Given the description of an element on the screen output the (x, y) to click on. 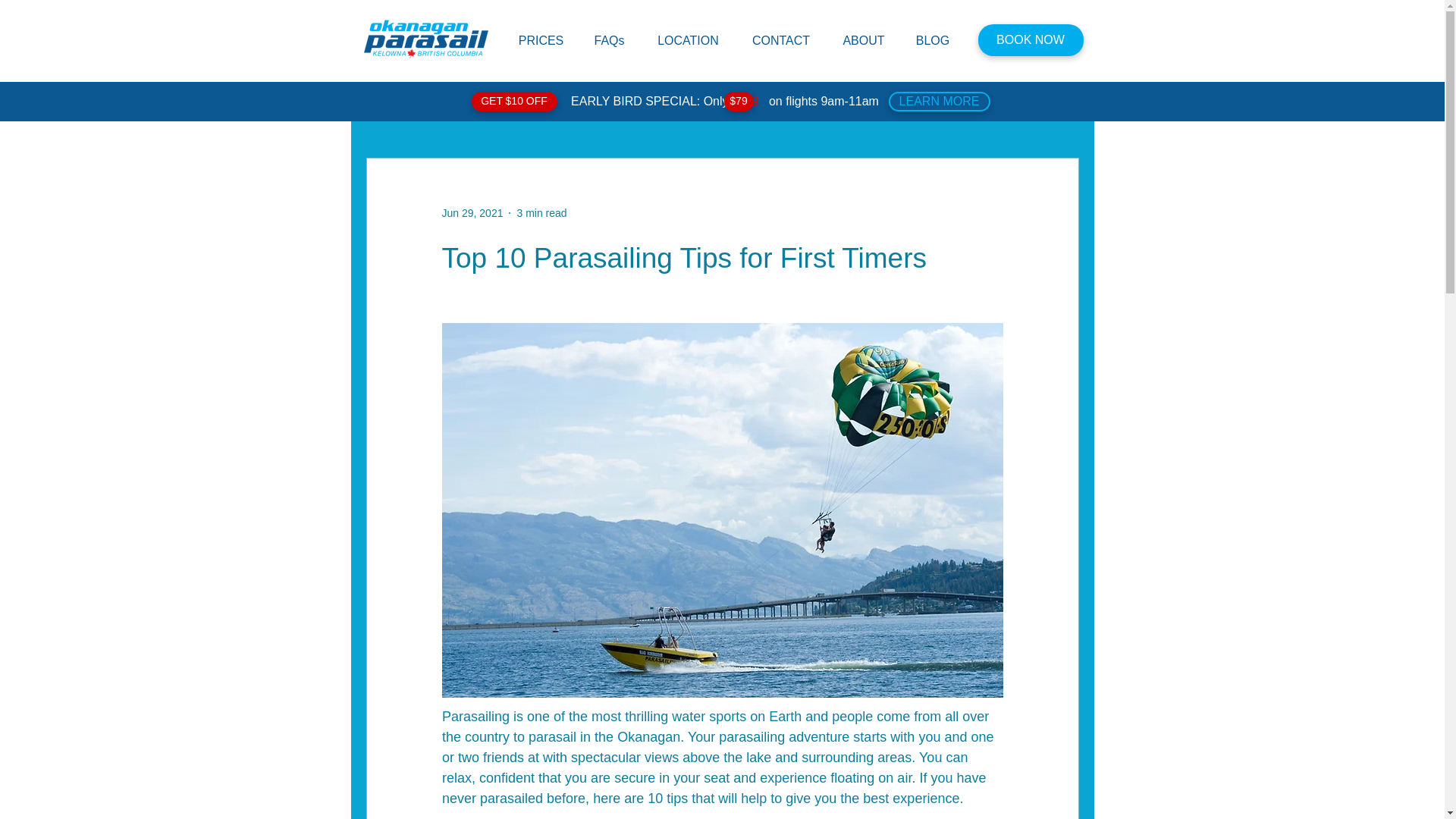
FAQs (610, 40)
ABOUT (863, 40)
LOCATION (688, 40)
BOOK NOW (1030, 40)
PRICES (541, 40)
CONTACT (781, 40)
All Posts (390, 112)
LEARN MORE (939, 101)
Jun 29, 2021 (471, 212)
BLOG (933, 40)
